Given the description of an element on the screen output the (x, y) to click on. 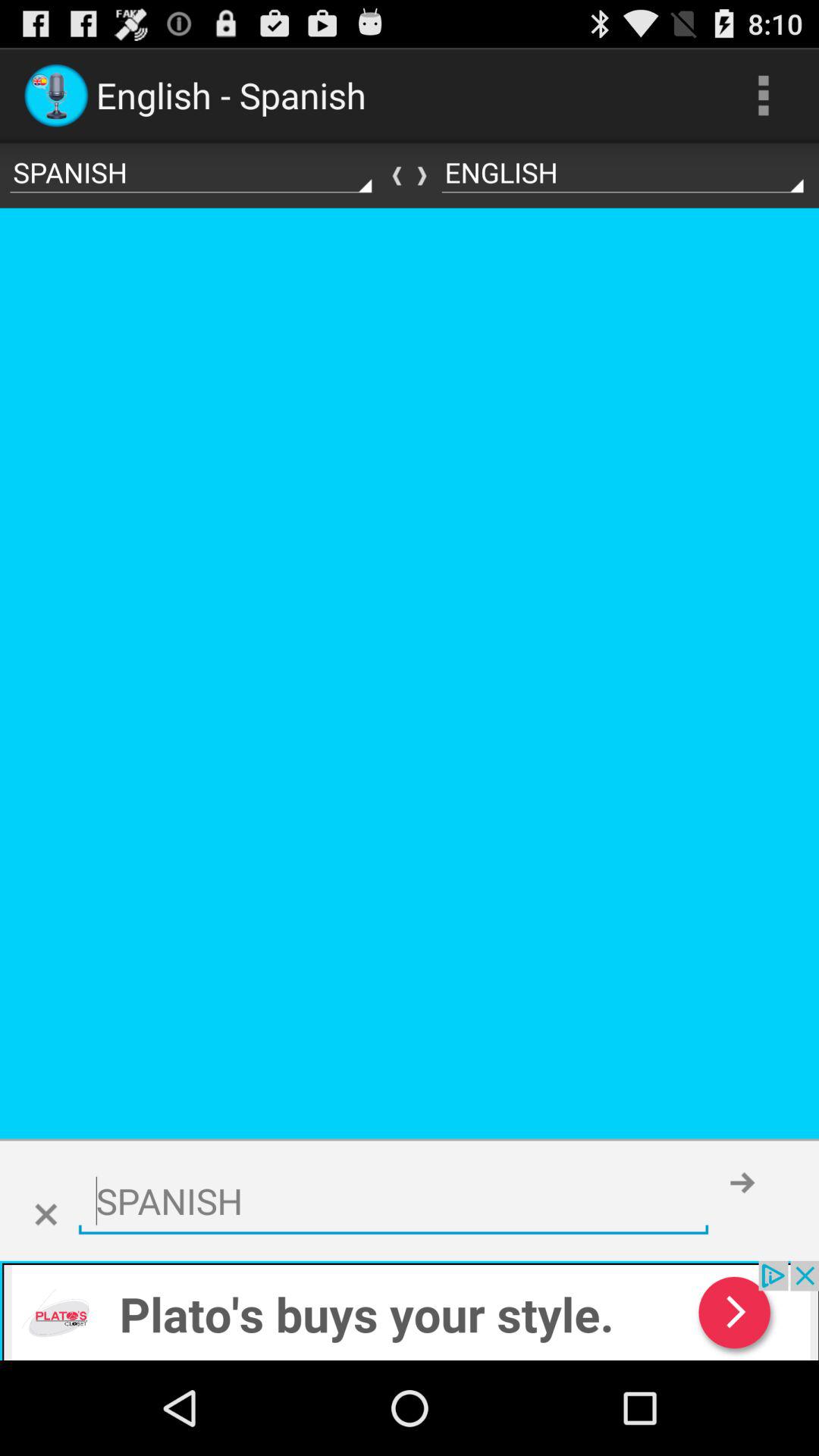
go to clolse (45, 1214)
